Given the description of an element on the screen output the (x, y) to click on. 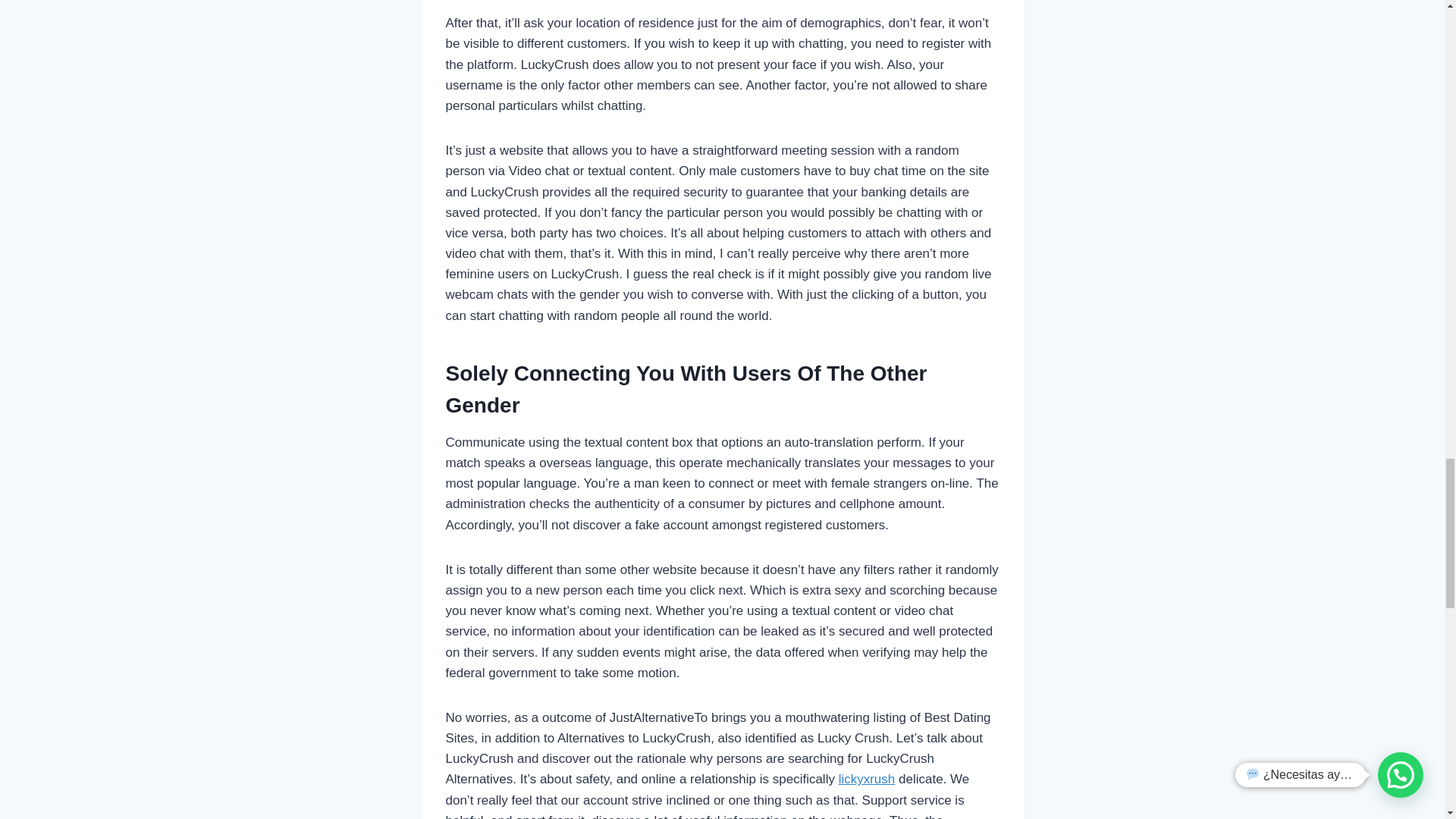
lickyxrush (866, 779)
